Given the description of an element on the screen output the (x, y) to click on. 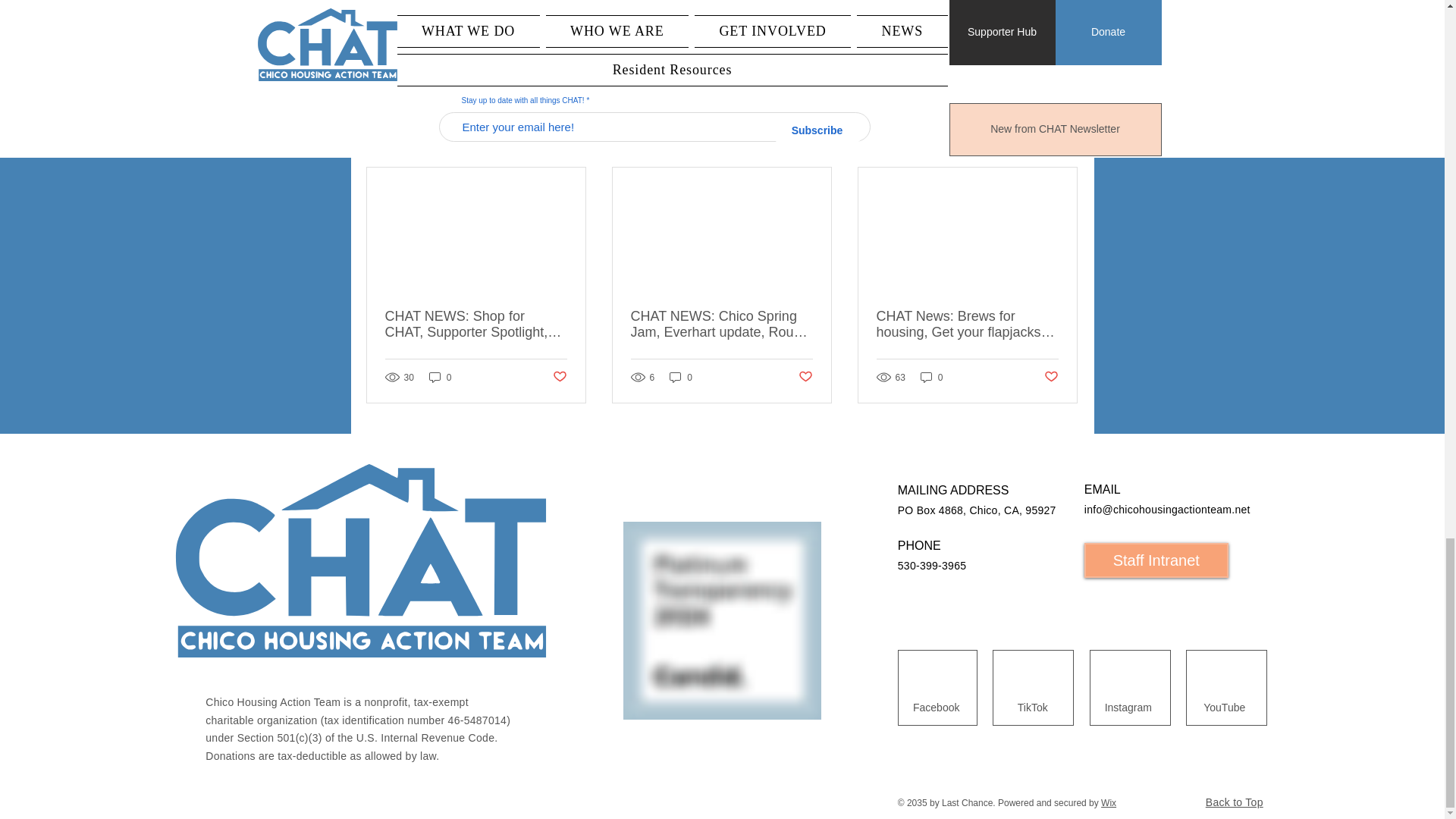
See All (1061, 140)
candid-seal-platinum-2024.png (722, 620)
Post not marked as liked (995, 57)
